Given the description of an element on the screen output the (x, y) to click on. 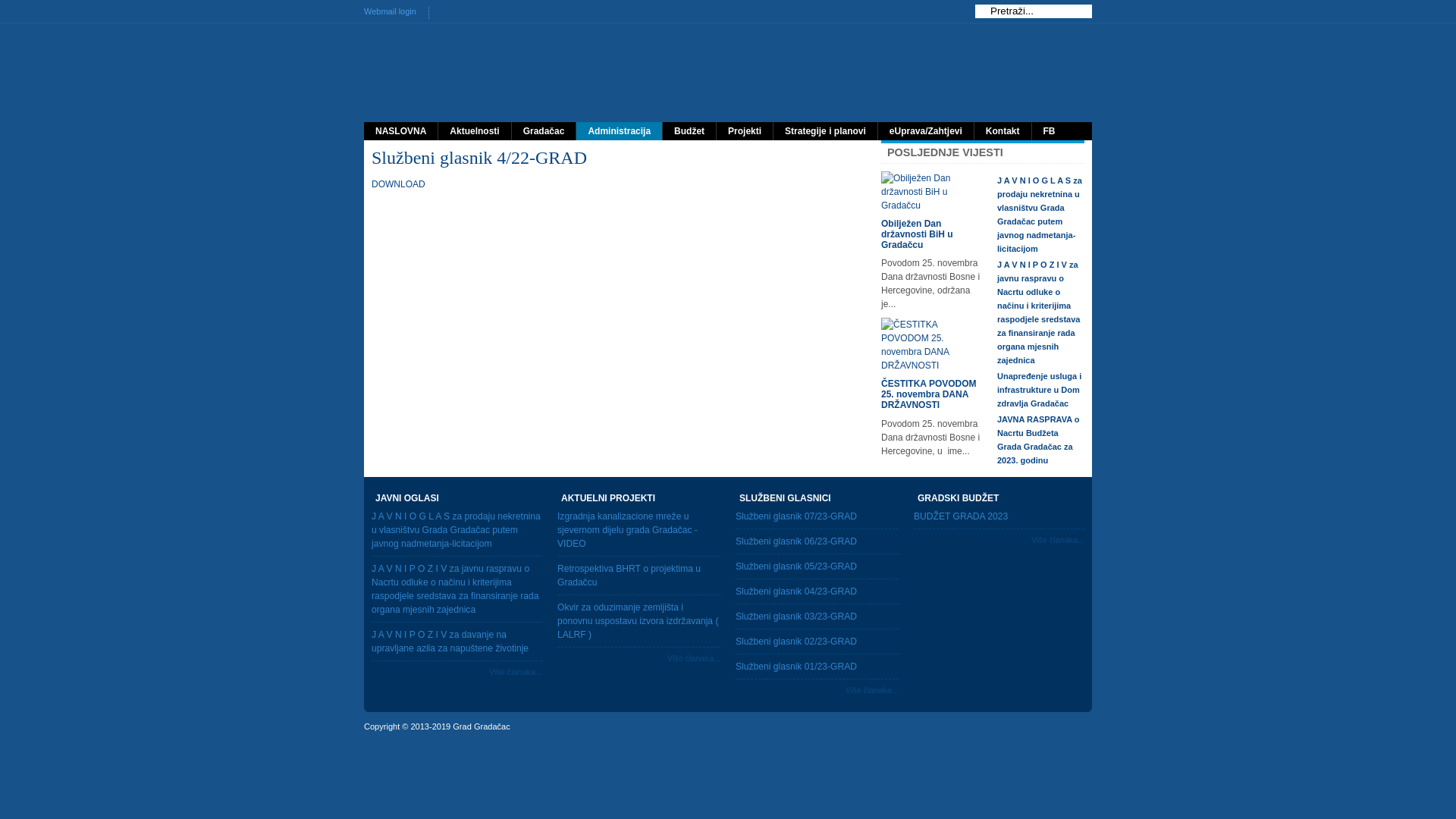
Administracija Element type: text (619, 131)
Aktuelnosti Element type: text (474, 131)
Projekti Element type: text (744, 131)
DOWNLOAD Element type: text (398, 183)
eUprava/Zahtjevi Element type: text (925, 131)
R Element type: text (452, 12)
Kontakt Element type: text (1002, 131)
NASLOVNA Element type: text (400, 131)
A+ Element type: text (440, 12)
Webmail login Element type: text (396, 10)
Strategije i planovi Element type: text (825, 131)
FB Element type: text (1049, 131)
A- Element type: text (463, 12)
